Given the description of an element on the screen output the (x, y) to click on. 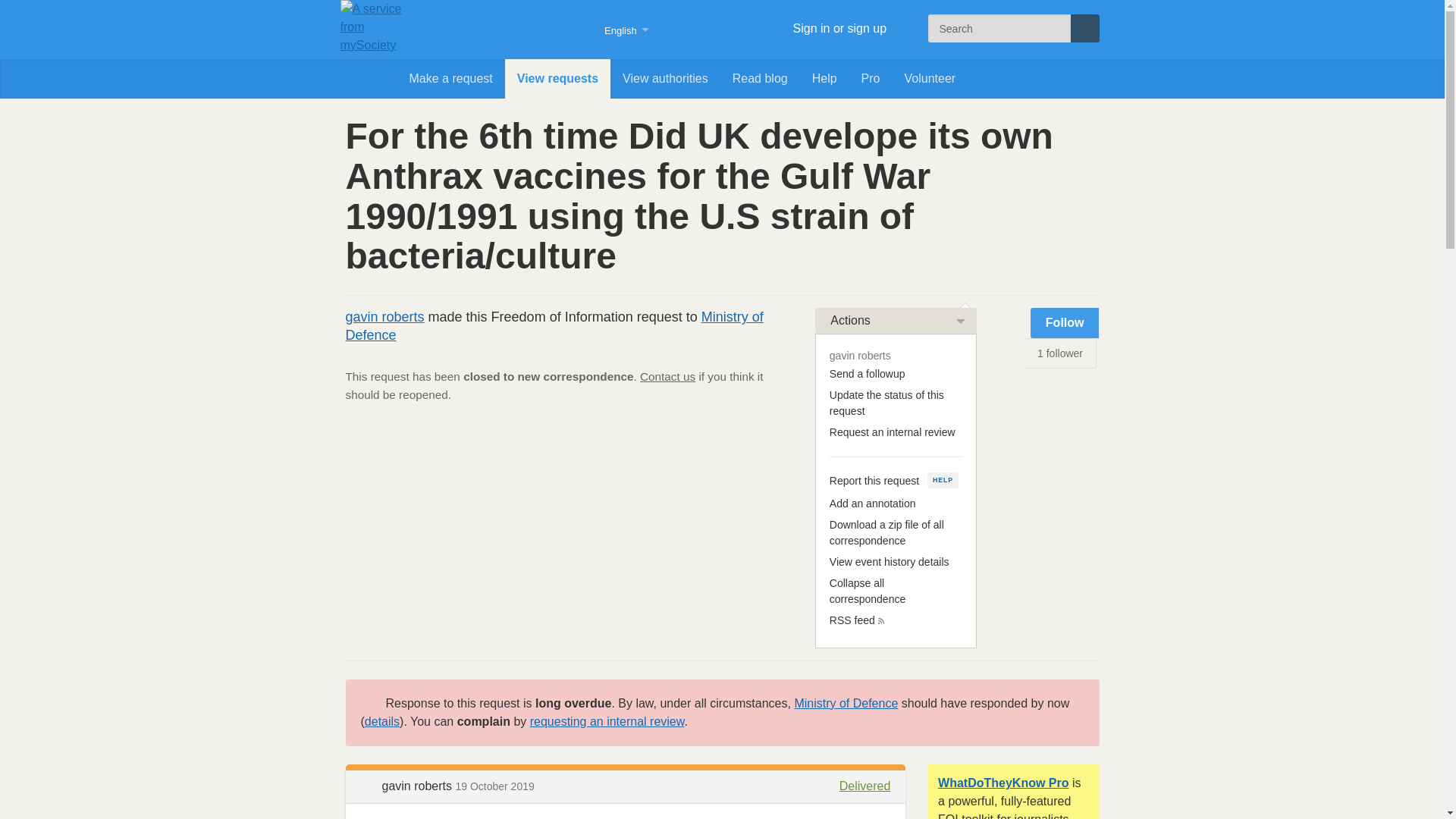
Make a request (451, 78)
Collapse all correspondence (867, 591)
Sign in or sign up (812, 28)
View event history details (889, 562)
requesting an internal review (606, 721)
Pro (870, 78)
Add an annotation (872, 503)
Volunteer (930, 78)
RSS feed (852, 620)
Report this request (873, 480)
Delivered (856, 785)
Request an internal review (892, 431)
HELP (942, 480)
Read blog (759, 78)
Ministry of Defence (845, 703)
